Given the description of an element on the screen output the (x, y) to click on. 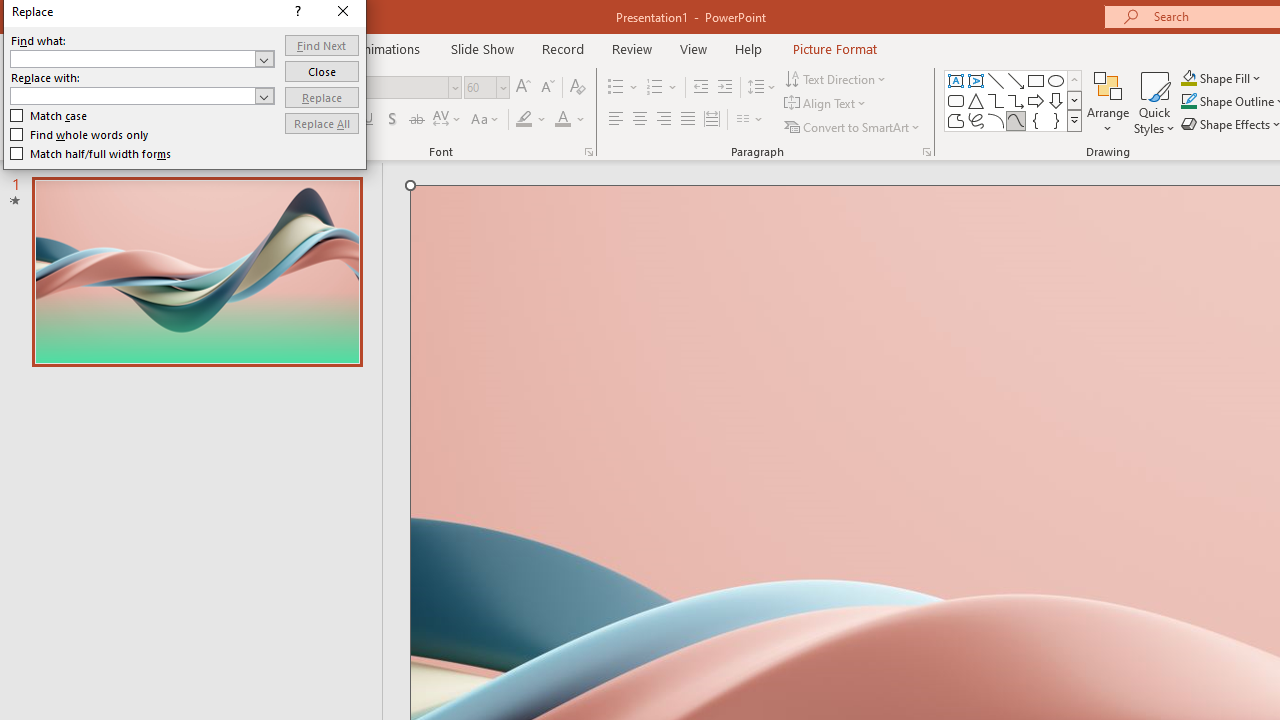
Find Next (321, 44)
Find what (132, 58)
Replace with (142, 96)
